Given the description of an element on the screen output the (x, y) to click on. 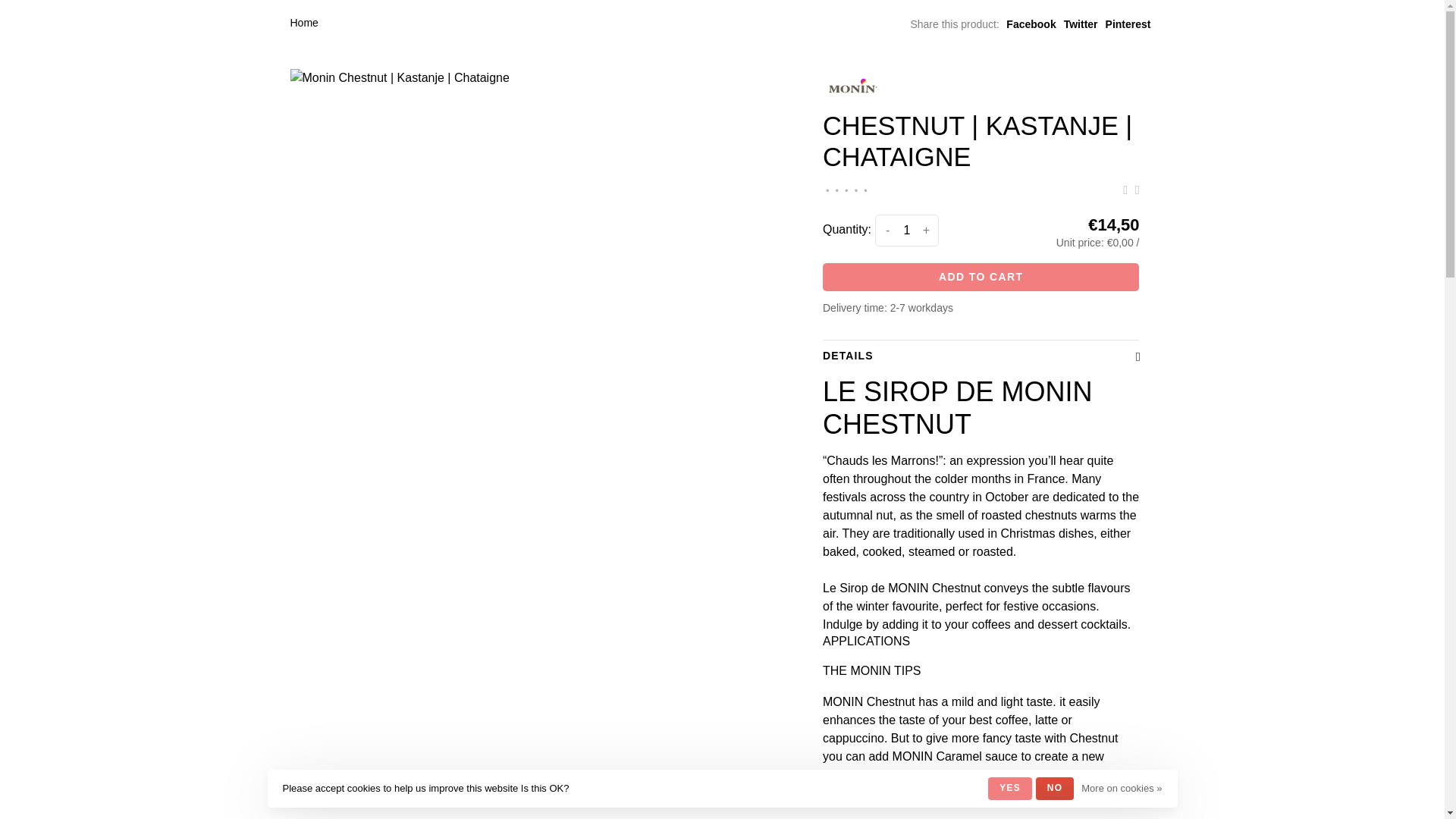
1 (907, 230)
